Given the description of an element on the screen output the (x, y) to click on. 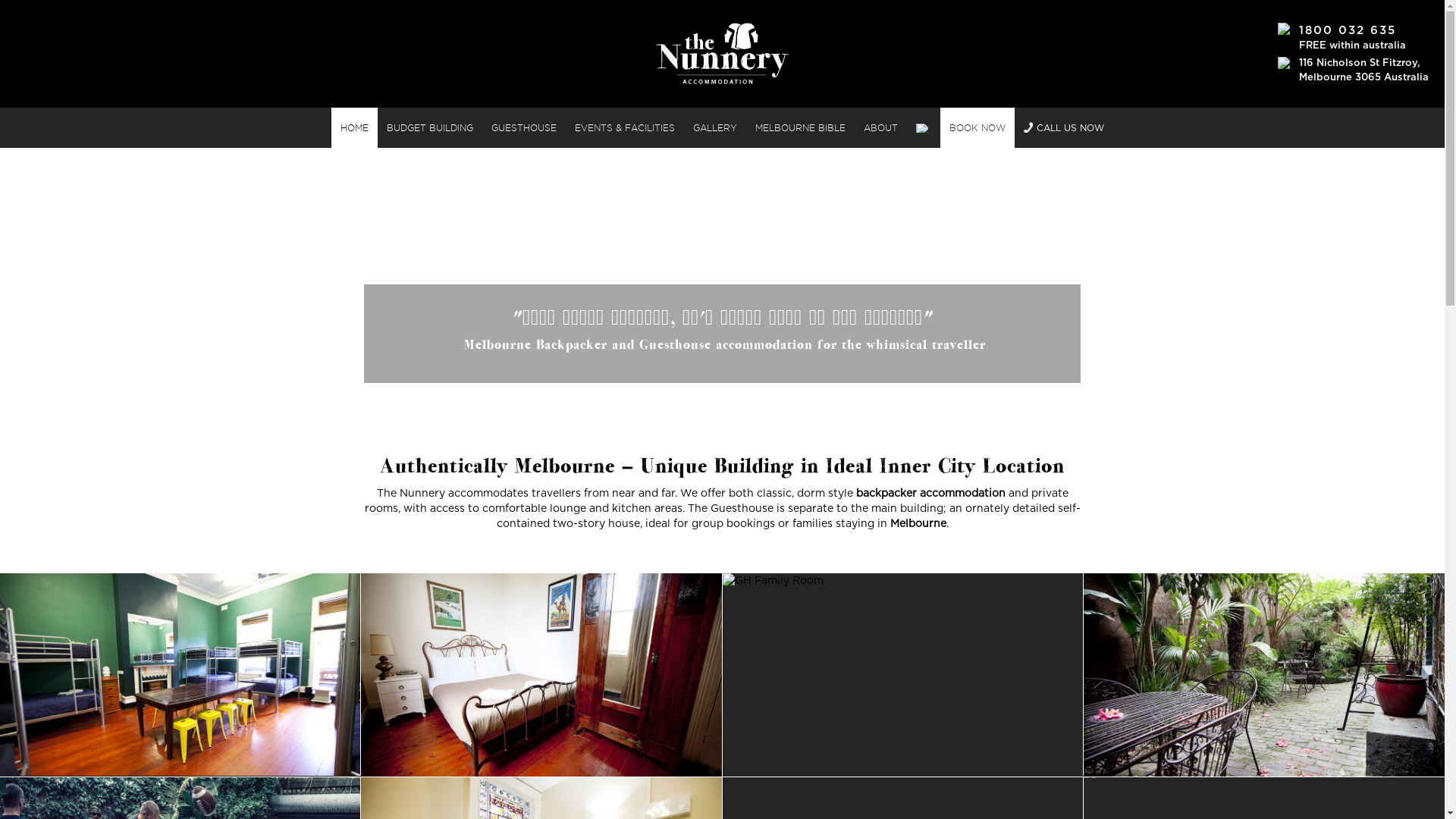
EVENTS & FACILITIES Element type: text (624, 127)
BUDGET BUILDING Element type: text (429, 127)
GH Court Yard Element type: hover (1263, 674)
GUESTHOUSE Element type: text (523, 127)
ABOUT Element type: text (880, 127)
GH Family Room Element type: hover (901, 674)
BOOK NOW Element type: text (977, 127)
12 Bedroom Element type: hover (180, 674)
Email Element type: hover (923, 127)
CALL US NOW Element type: text (1063, 127)
HOME Element type: text (354, 127)
Double Room Element type: hover (540, 674)
MELBOURNE BIBLE Element type: text (800, 127)
The Nunnery Element type: text (721, 53)
GALLERY Element type: text (715, 127)
